Given the description of an element on the screen output the (x, y) to click on. 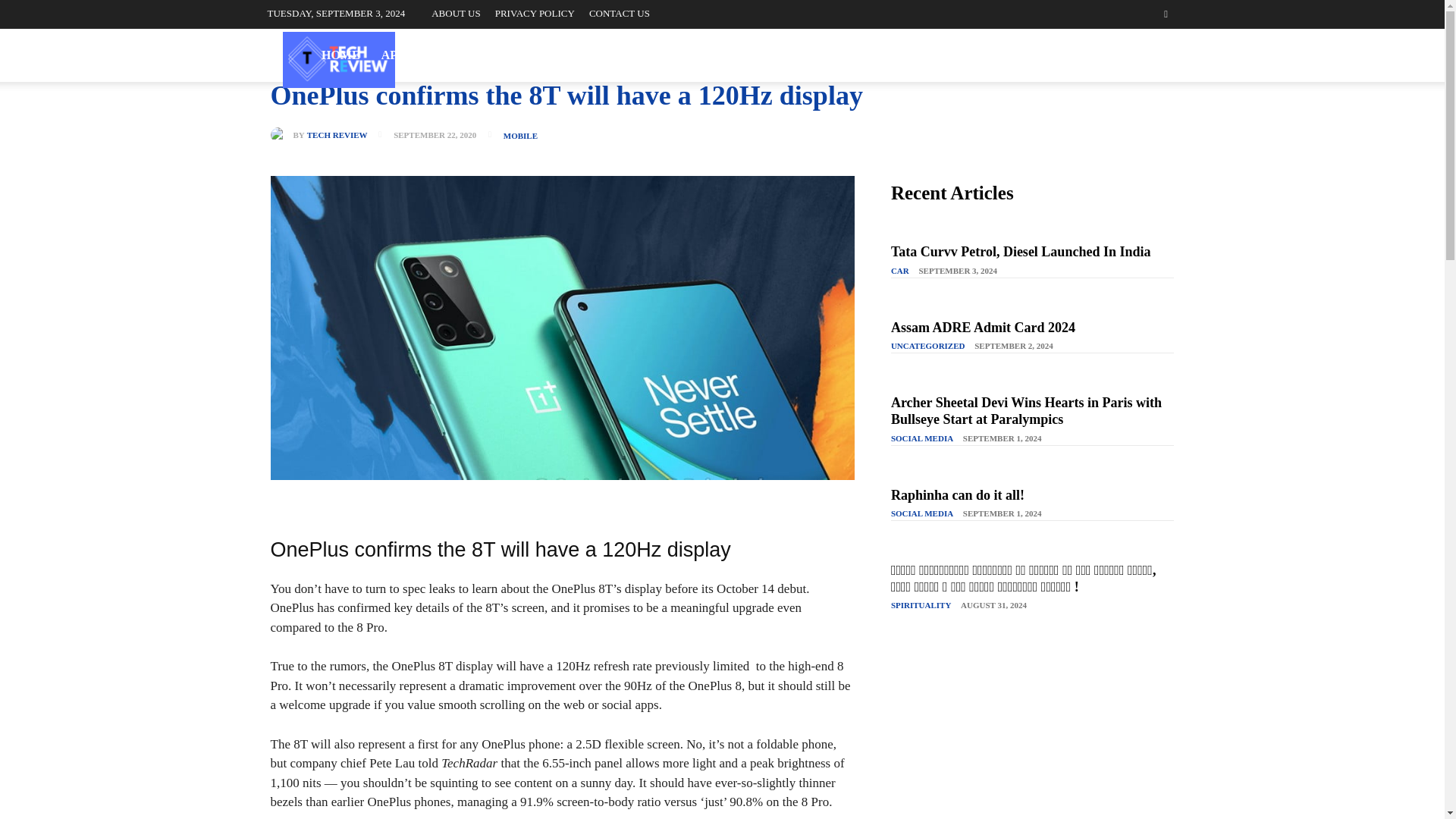
Techreview (338, 59)
SOCIAL MEDIA (877, 54)
CONTACT US (619, 12)
Tech Review (280, 134)
Search (1134, 70)
Raphinha can do it all! (958, 494)
HOME (340, 54)
Assam ADRE Admit Card 2024 (983, 327)
GADGETS (546, 54)
